Given the description of an element on the screen output the (x, y) to click on. 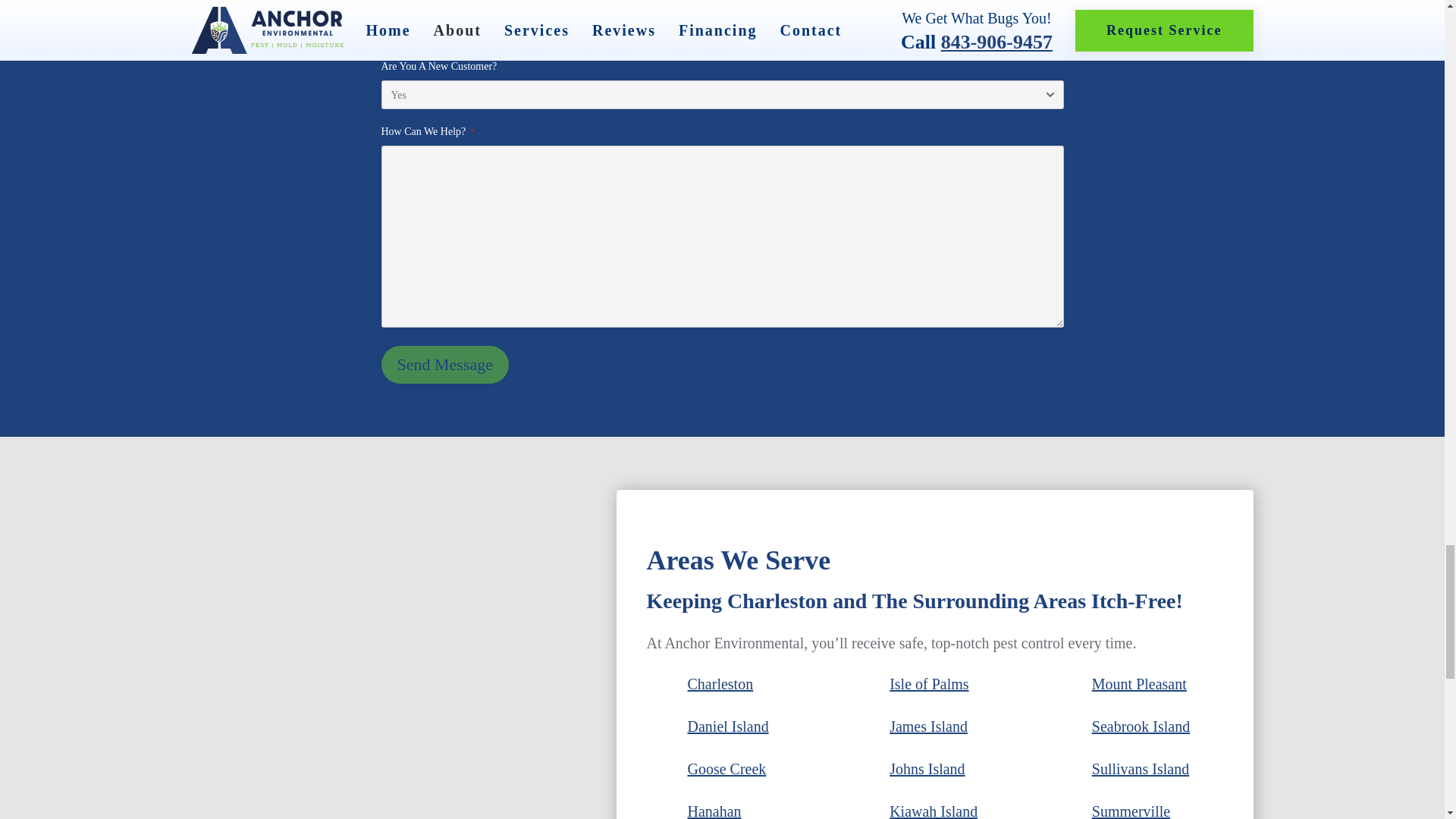
Send Message (444, 364)
